Given the description of an element on the screen output the (x, y) to click on. 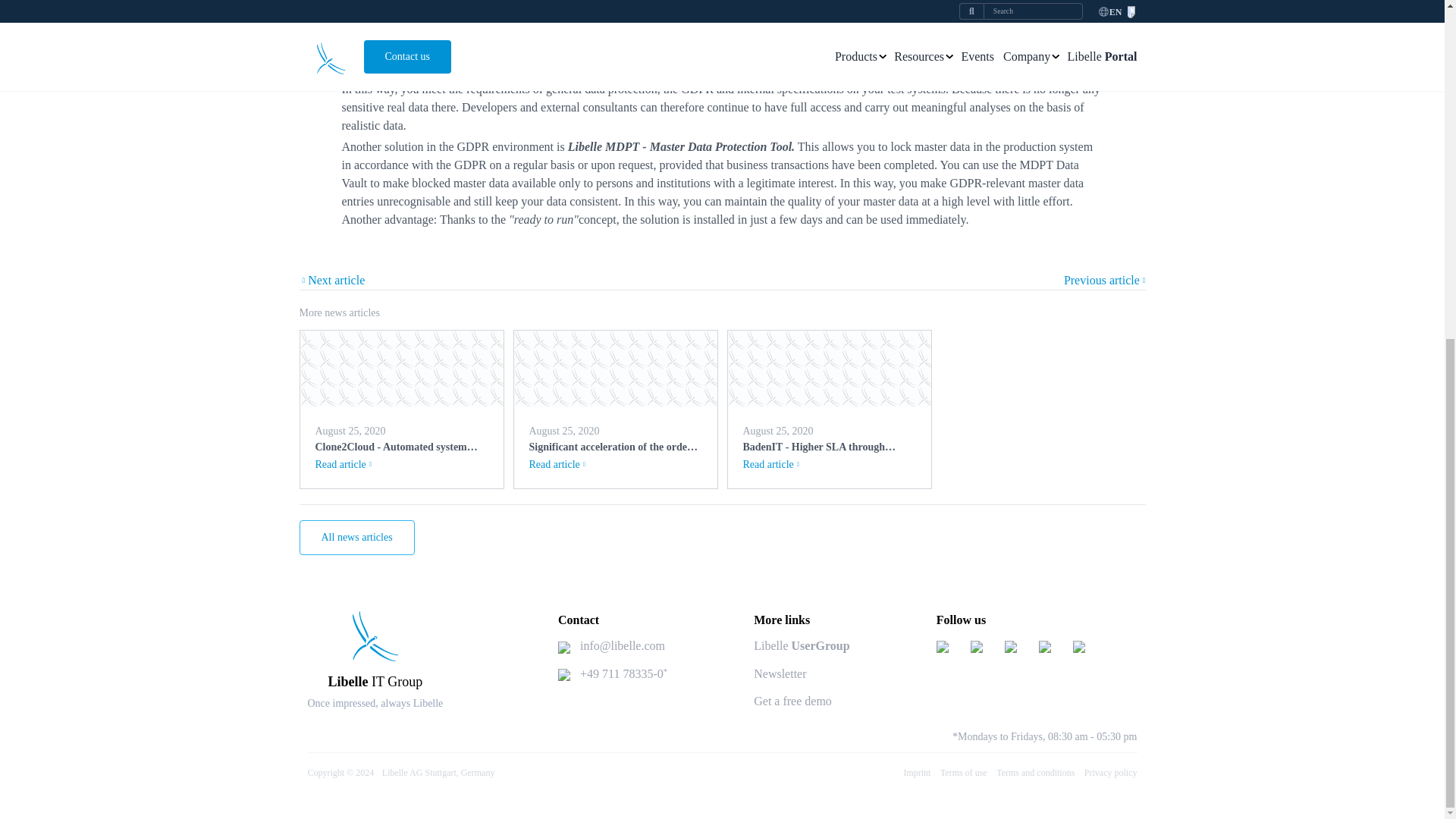
Read article (557, 464)
Previous article (1104, 280)
Libelle UserGroup (801, 646)
Next article (331, 280)
All news articles (355, 537)
Get a free demo (792, 701)
Read article (343, 464)
Newsletter (780, 674)
Read article (770, 464)
